Given the description of an element on the screen output the (x, y) to click on. 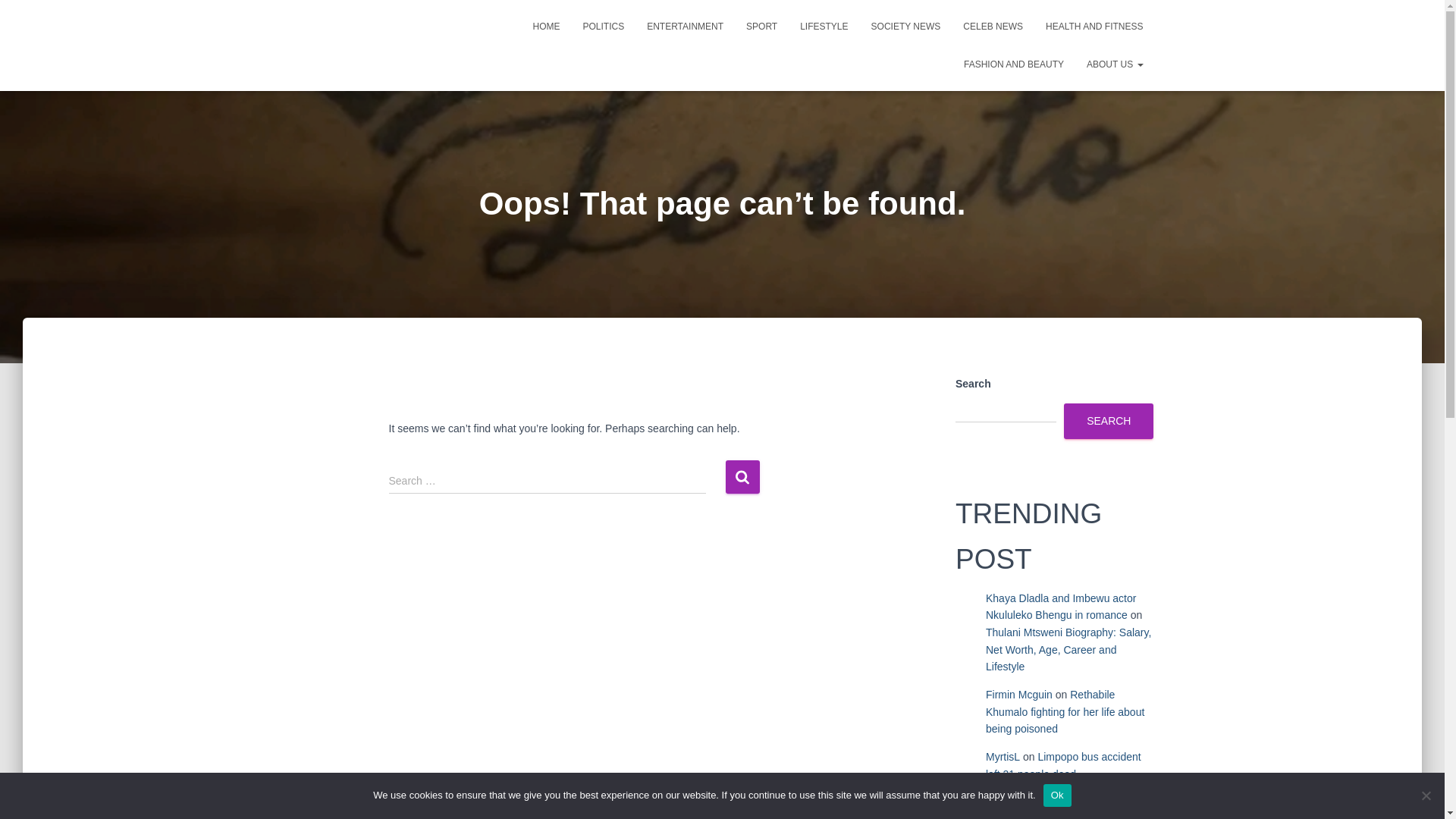
HOME (545, 26)
Home (545, 26)
About US (1114, 64)
Lifestyle (824, 26)
ABOUT US (1114, 64)
Limpopo bus accident left 21 people dead (1063, 765)
Celeb News (992, 26)
FASHION AND BEAUTY (1013, 64)
SOCIETY NEWS (906, 26)
Society News (906, 26)
MyrtisL (1002, 756)
Entertainment (684, 26)
SPORT (762, 26)
Search (741, 476)
Rethabile Khumalo fighting for her life about being poisoned (1064, 711)
